Given the description of an element on the screen output the (x, y) to click on. 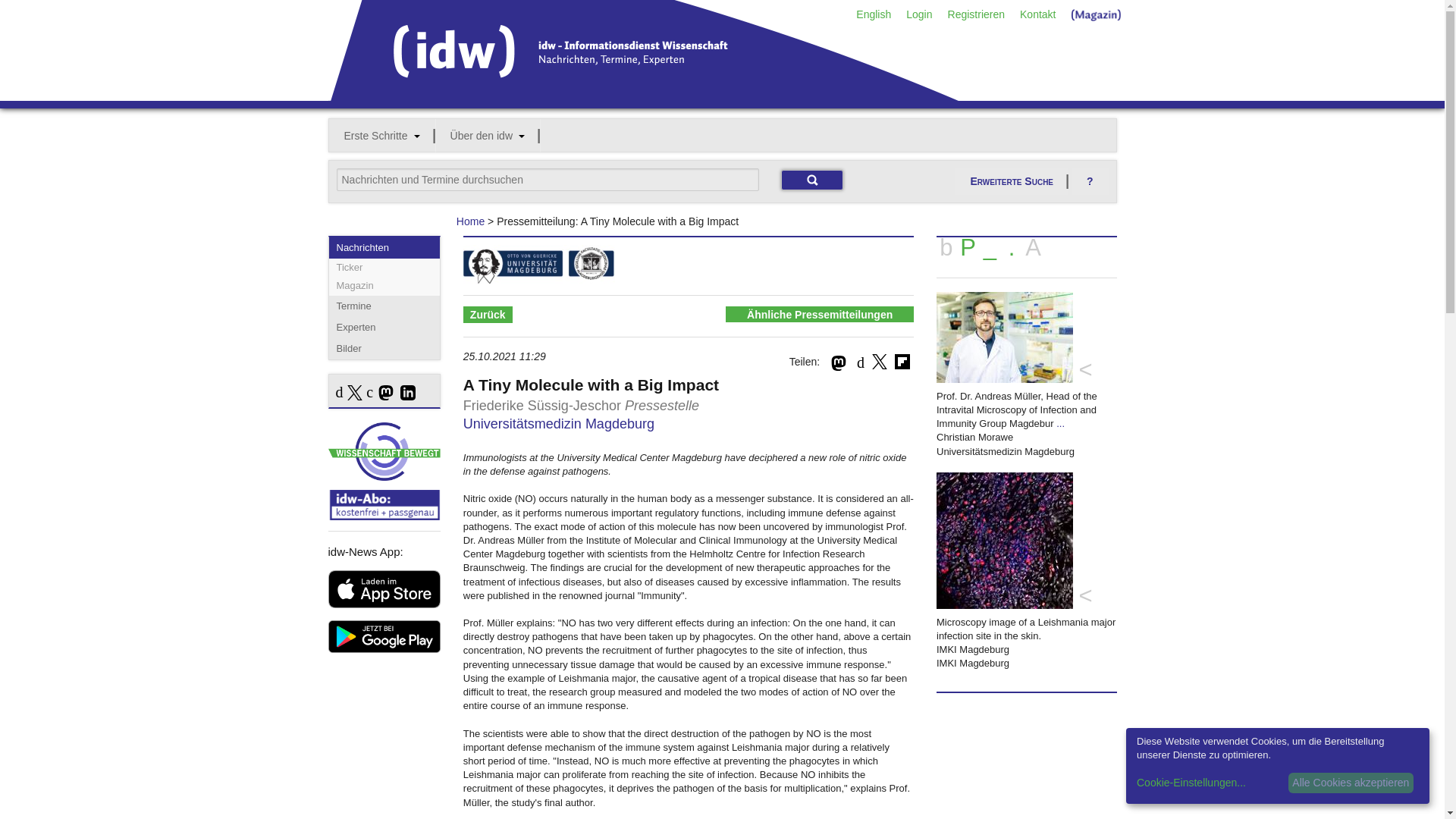
Facebook (860, 362)
Experten (384, 327)
? (1089, 181)
d (338, 392)
Zur Startseite (643, 95)
Erste Schritte (382, 135)
RSS-Feed (369, 392)
Home (470, 221)
Login (918, 14)
Ticker (384, 267)
Mastodon (384, 393)
facebook (338, 392)
Bilder (384, 348)
Registrieren (975, 14)
Kontakt (1036, 14)
